Given the description of an element on the screen output the (x, y) to click on. 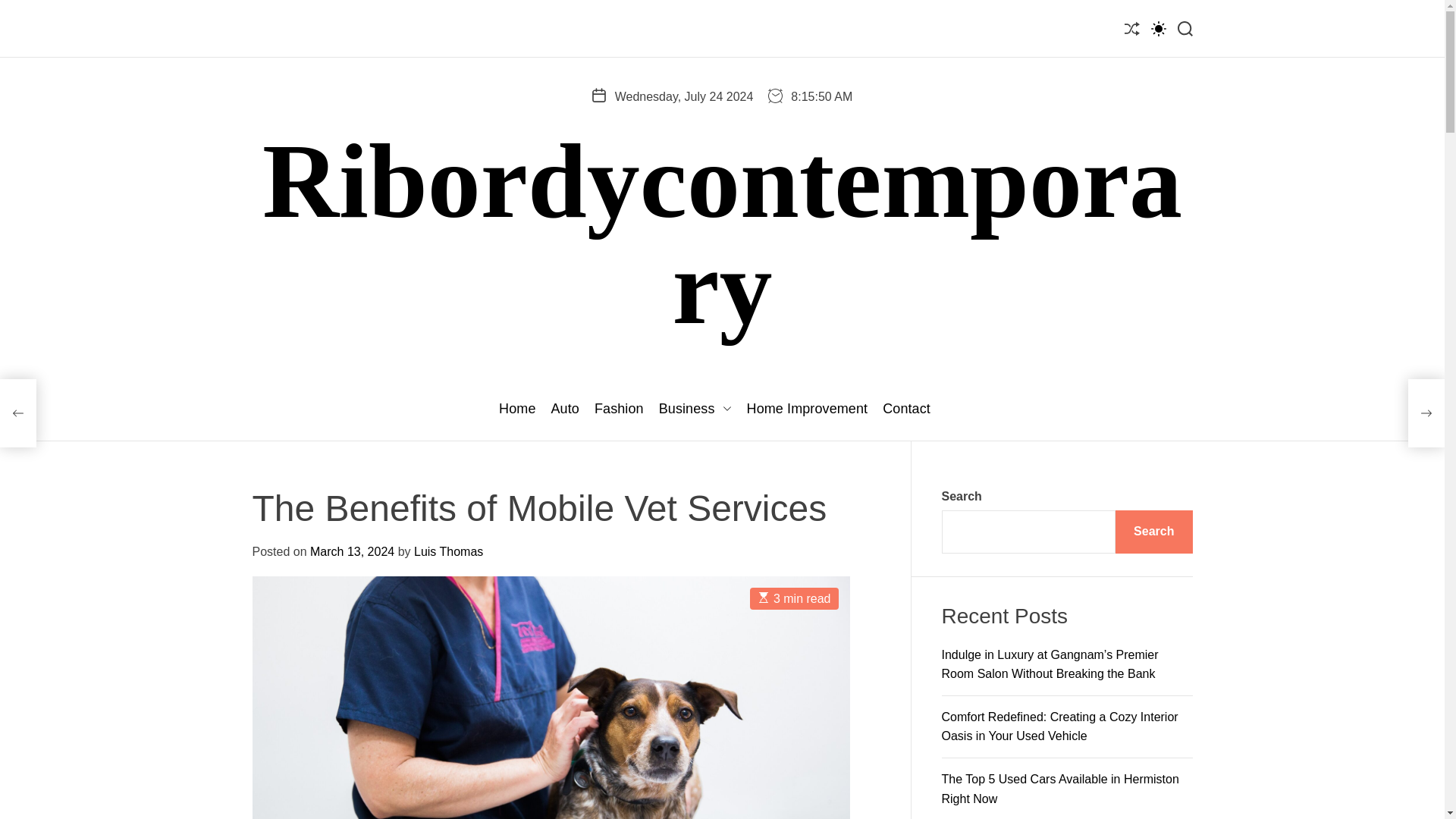
Contact (906, 409)
Home (517, 409)
Home Improvement (806, 409)
Fashion (618, 409)
Luis Thomas (448, 551)
March 13, 2024 (352, 551)
Business (695, 409)
